Given the description of an element on the screen output the (x, y) to click on. 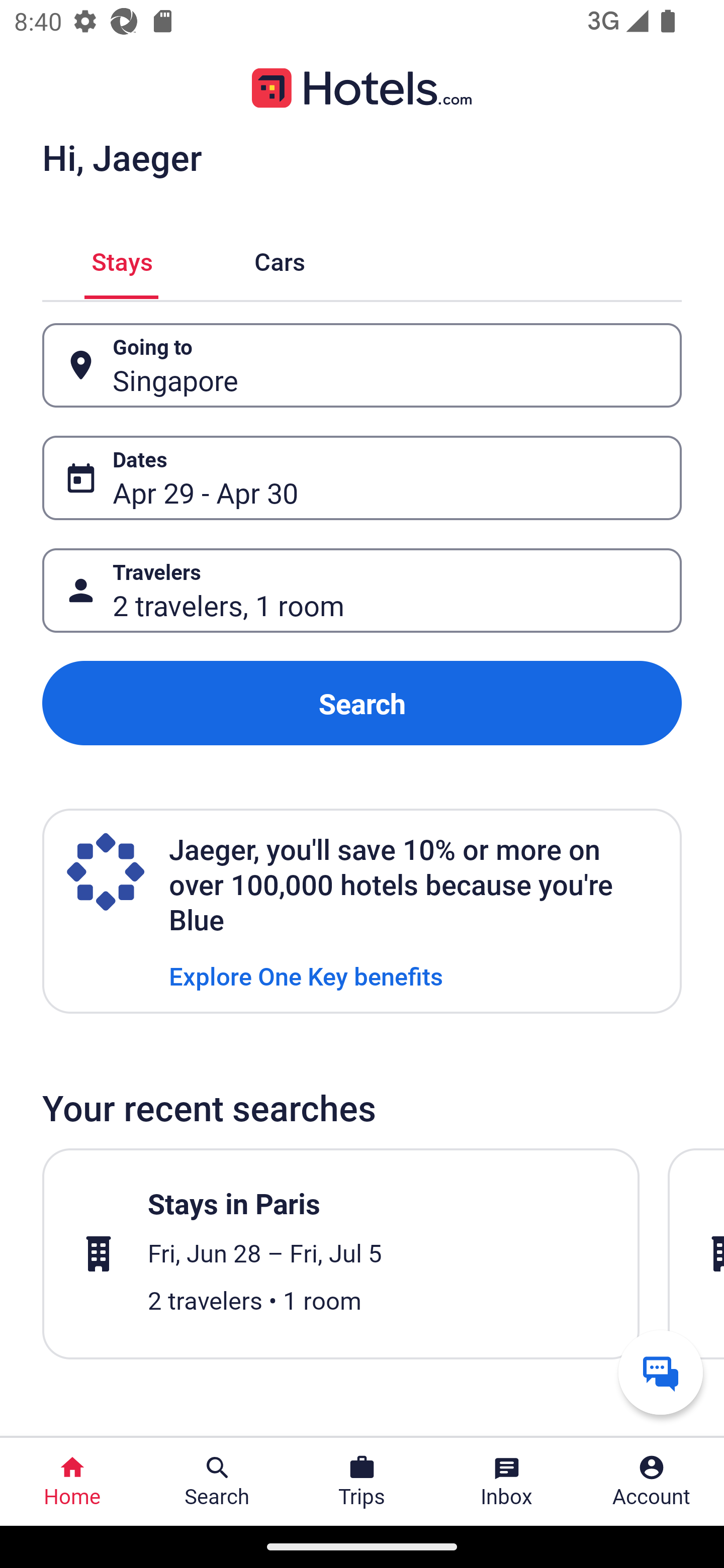
Hi, Jaeger (121, 156)
Cars (279, 259)
Going to Button Singapore (361, 365)
Dates Button Apr 29 - Apr 30 (361, 477)
Travelers Button 2 travelers, 1 room (361, 590)
Search (361, 702)
Get help from a virtual agent (660, 1371)
Search Search Button (216, 1481)
Trips Trips Button (361, 1481)
Inbox Inbox Button (506, 1481)
Account Profile. Button (651, 1481)
